Given the description of an element on the screen output the (x, y) to click on. 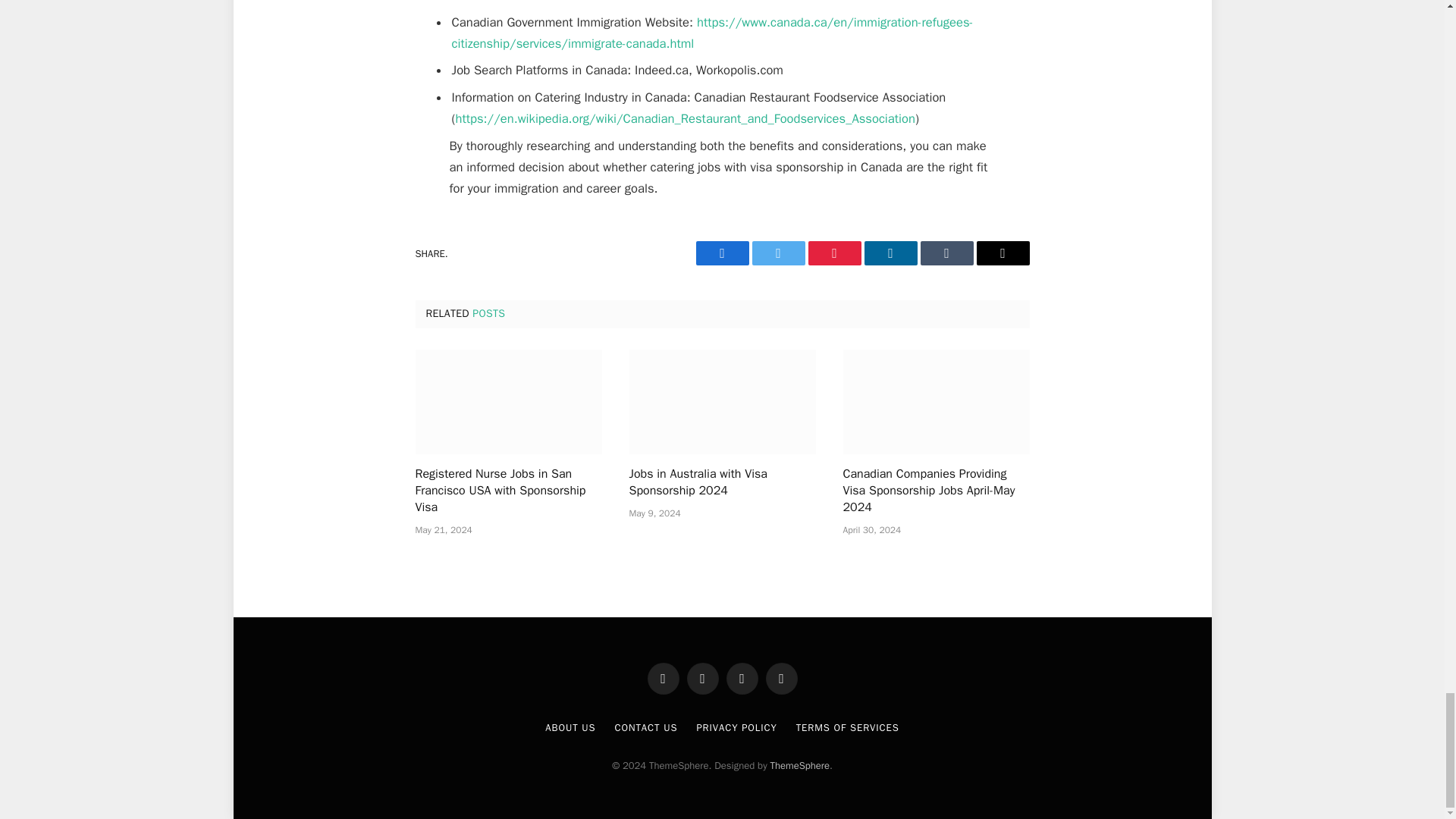
Tumblr (947, 252)
Twitter (778, 252)
Pinterest (834, 252)
LinkedIn (890, 252)
Facebook (722, 252)
Email (1002, 252)
